Given the description of an element on the screen output the (x, y) to click on. 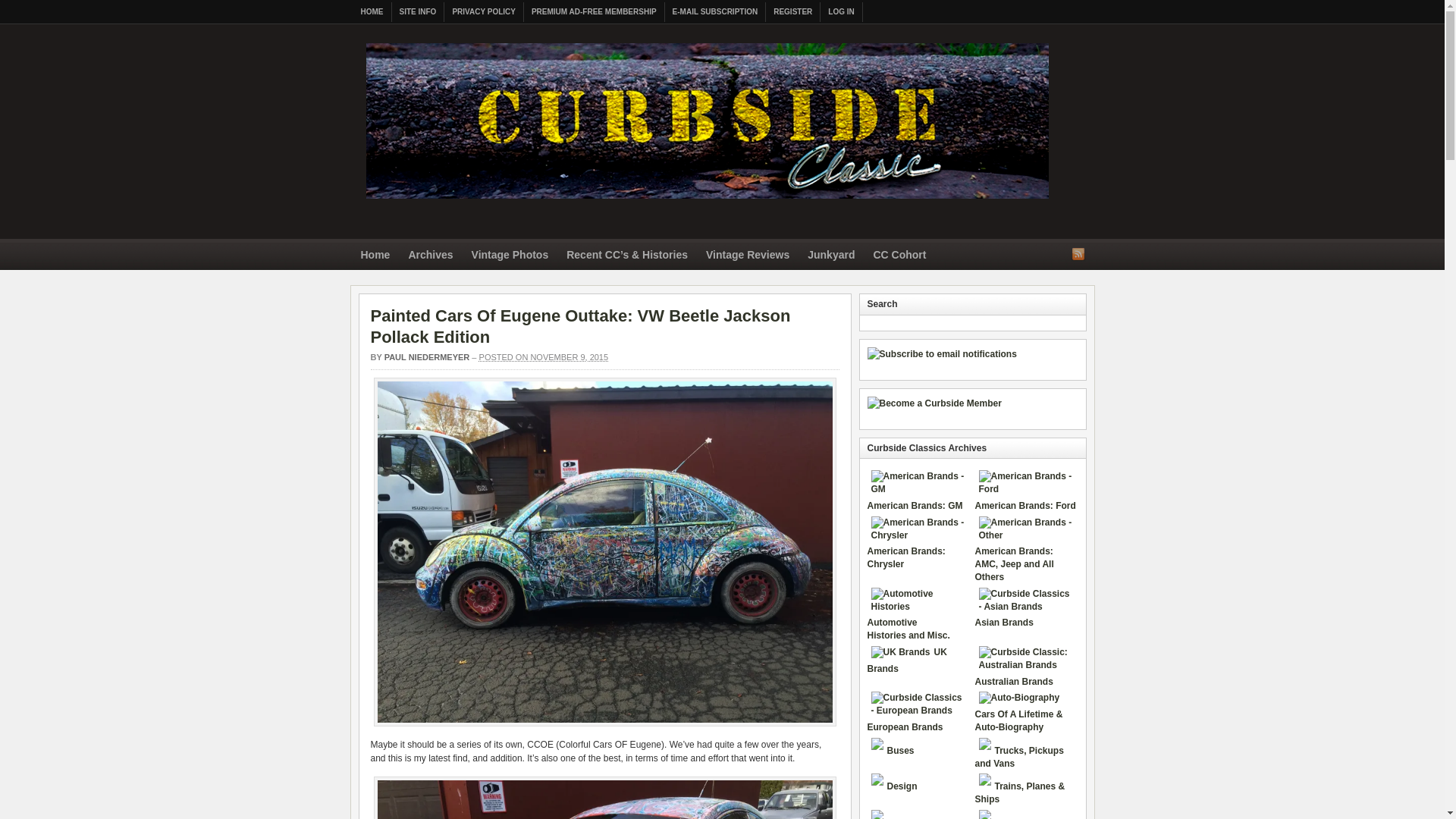
REGISTER (793, 12)
PRIVACY POLICY (484, 12)
SITE INFO (417, 12)
LOG IN (841, 12)
2015-11-09T06:00:58-08:00 (543, 356)
PREMIUM AD-FREE MEMBERSHIP (594, 12)
Paul Niedermeyer (427, 356)
HOME (372, 12)
Curbside Classic (706, 203)
Vintage Photos (510, 256)
